Given the description of an element on the screen output the (x, y) to click on. 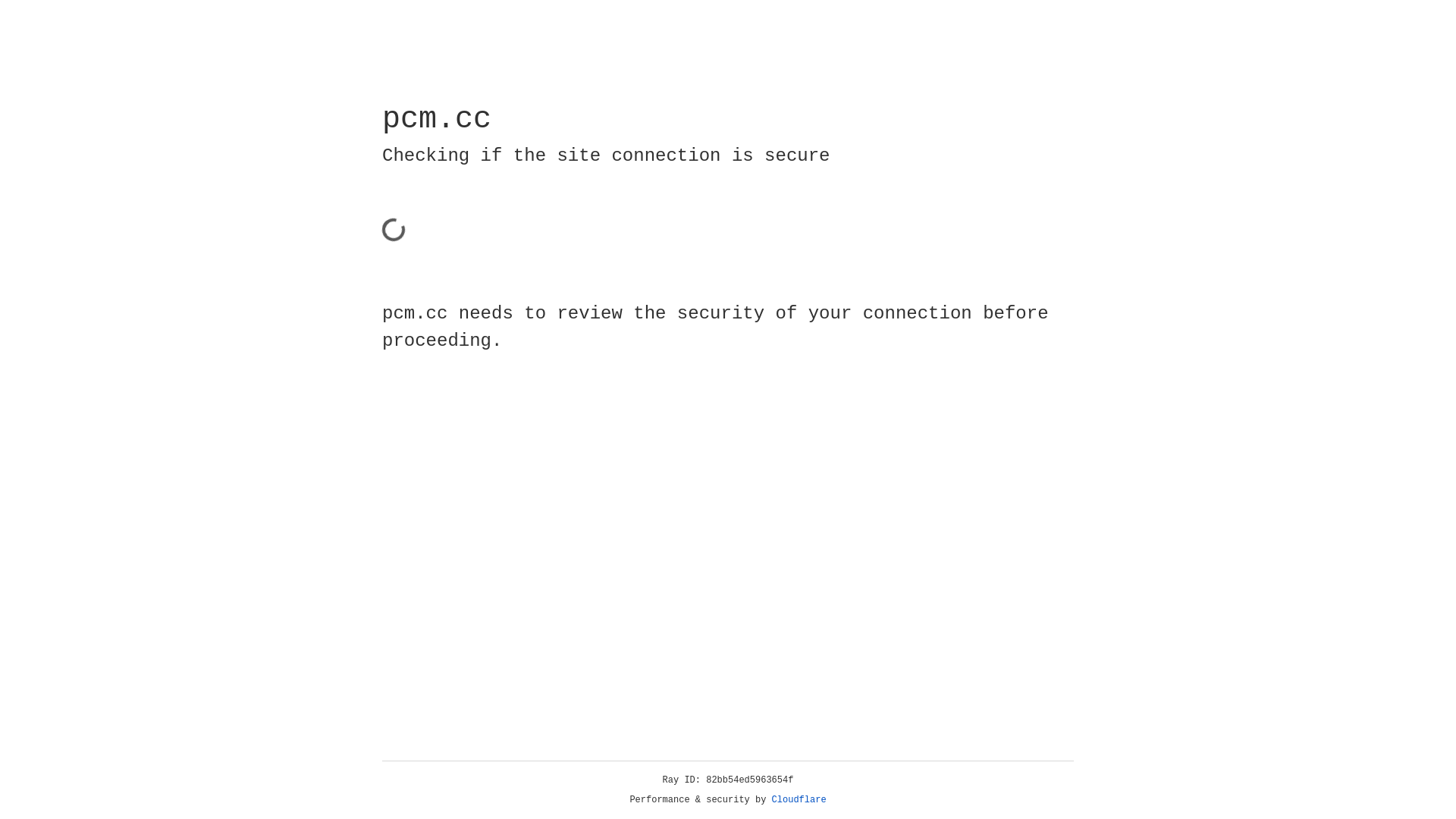
Cloudflare Element type: text (798, 799)
